Given the description of an element on the screen output the (x, y) to click on. 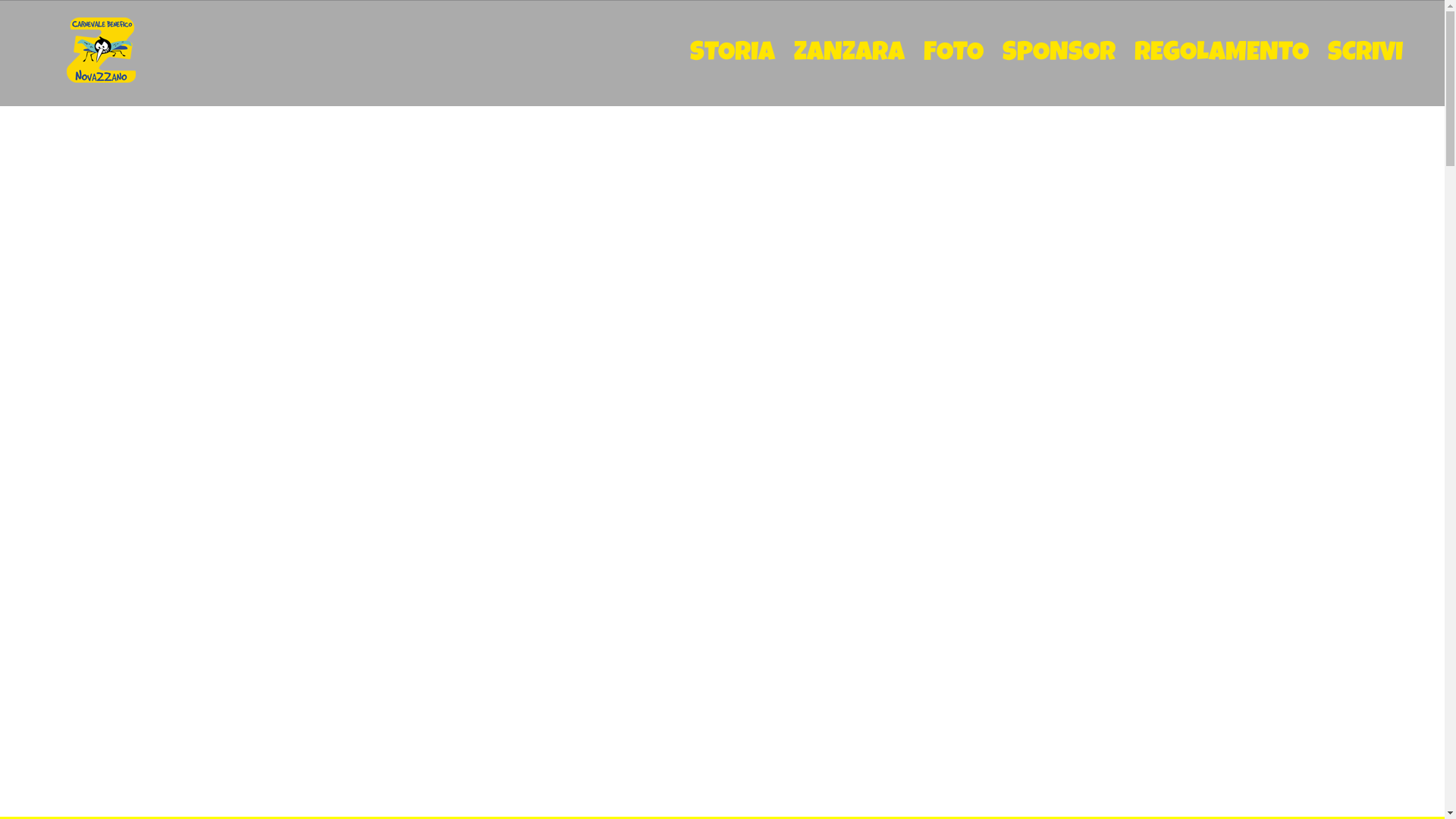
SCRIVI Element type: text (1364, 52)
STORIA Element type: text (732, 52)
SPONSOR Element type: text (1058, 52)
REGOLAMENTO Element type: text (1221, 52)
ZANZARA Element type: text (848, 52)
FOTO Element type: text (953, 52)
